Given the description of an element on the screen output the (x, y) to click on. 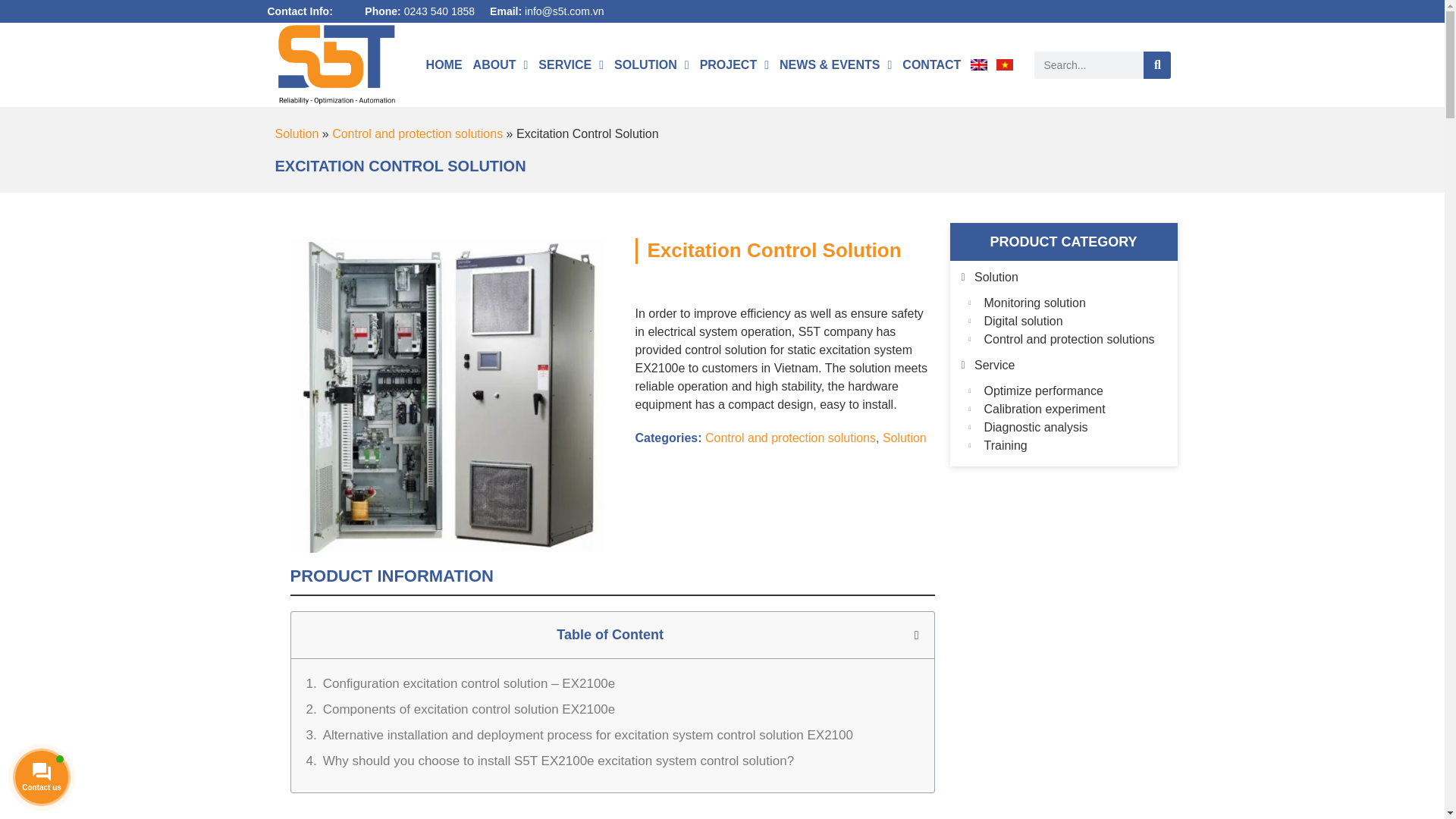
SERVICE (570, 2)
SOLUTION (651, 13)
Search (1087, 62)
PROJECT (734, 28)
Search (1156, 62)
CONTACT (931, 43)
